Given the description of an element on the screen output the (x, y) to click on. 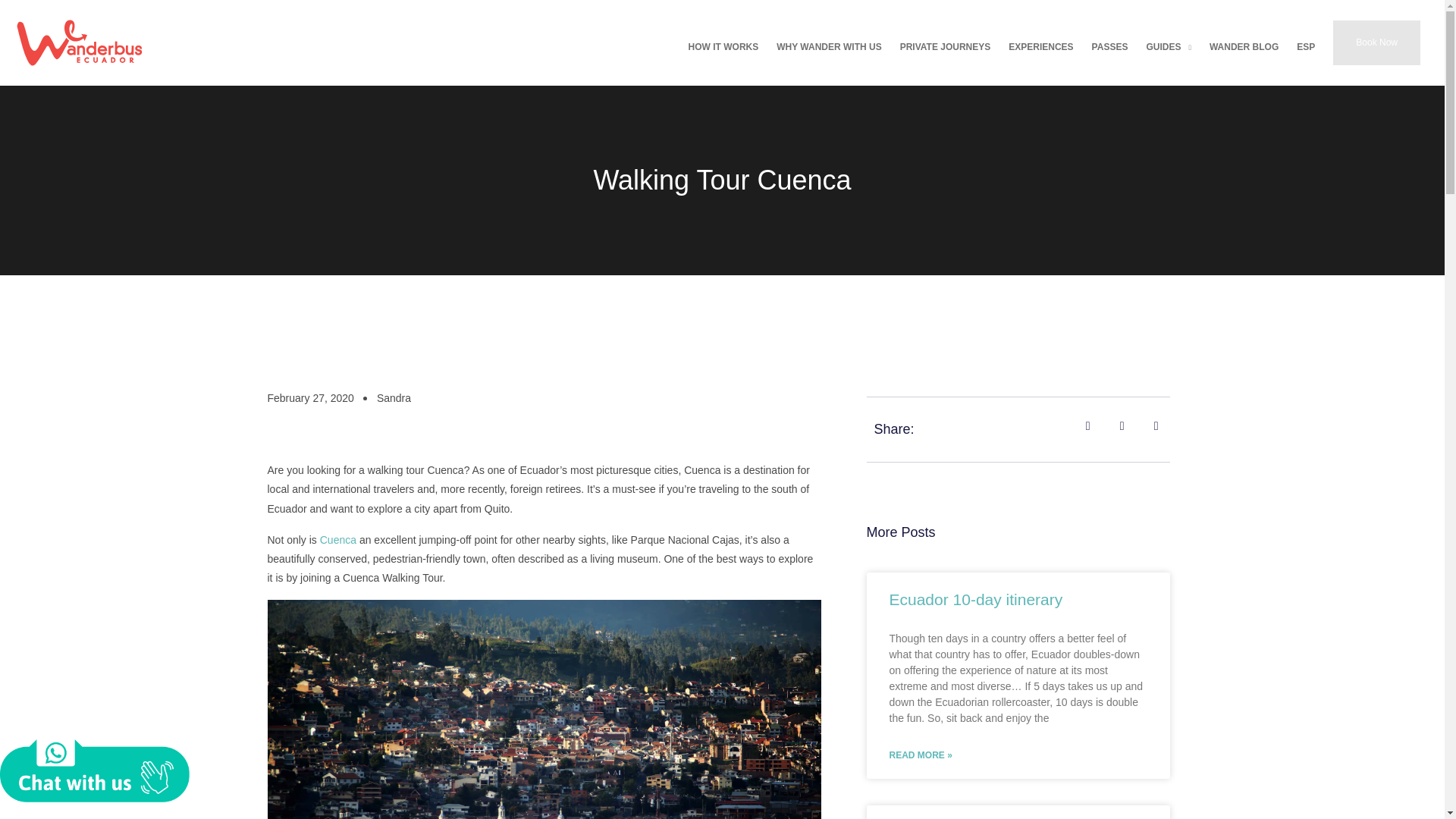
GUIDES (1168, 42)
PRIVATE JOURNEYS (945, 42)
Walking tour Cuenca (543, 709)
Book Now (1377, 42)
HOW IT WORKS (723, 42)
EXPERIENCES (1039, 42)
PASSES (1110, 42)
WANDER BLOG (1243, 42)
WHY WANDER WITH US (828, 42)
